Given the description of an element on the screen output the (x, y) to click on. 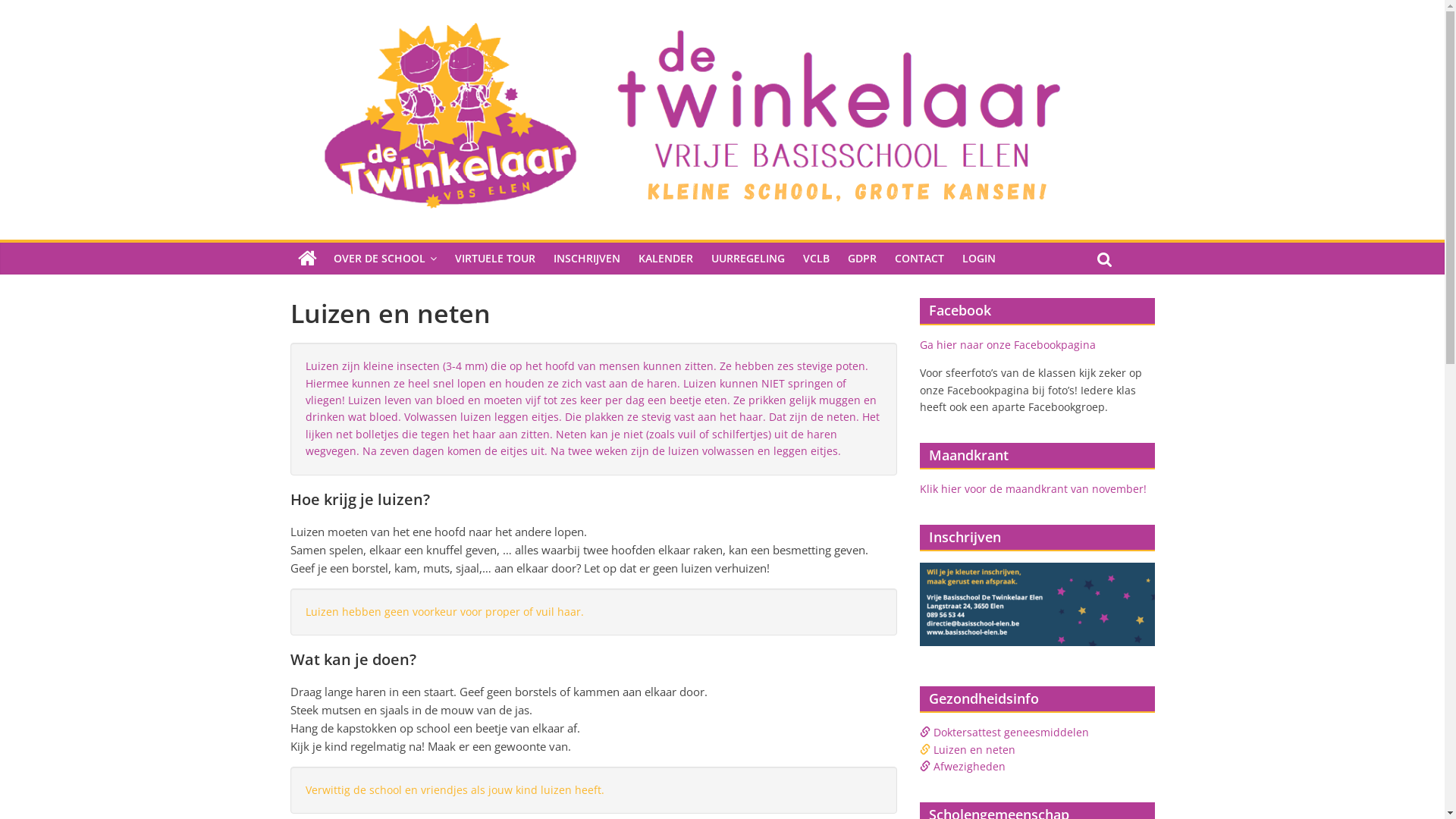
Afwezigheden Element type: text (968, 766)
De Twinkelaar Element type: hover (306, 258)
De Twinkelaar Element type: hover (690, 23)
CONTACT Element type: text (919, 258)
Doktersattest geneesmiddelen Element type: text (1010, 731)
Luizen en neten Element type: text (973, 749)
VIRTUELE TOUR Element type: text (494, 258)
LOGIN Element type: text (978, 258)
KALENDER Element type: text (665, 258)
Ga hier naar onze Facebookpagina Element type: text (1007, 344)
UURREGELING Element type: text (747, 258)
VCLB Element type: text (815, 258)
OVER DE SCHOOL Element type: text (384, 258)
INSCHRIJVEN Element type: text (586, 258)
GDPR Element type: text (861, 258)
Klik hier voor de maandkrant van november! Element type: text (1032, 488)
